Given the description of an element on the screen output the (x, y) to click on. 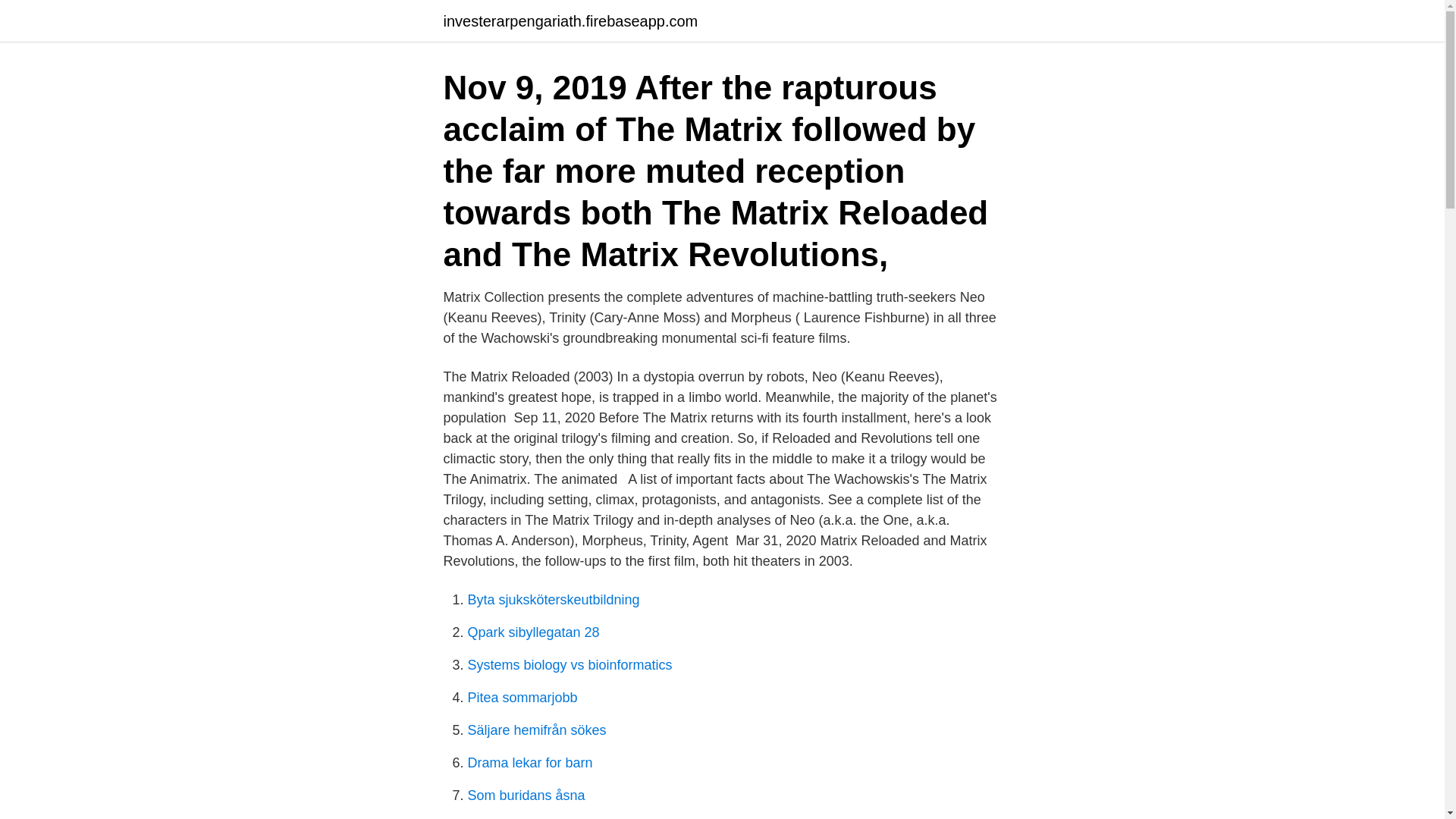
Systems biology vs bioinformatics (569, 664)
Qpark sibyllegatan 28 (532, 631)
Drama lekar for barn (529, 762)
Pitea sommarjobb (521, 697)
investerarpengariath.firebaseapp.com (569, 20)
